Given the description of an element on the screen output the (x, y) to click on. 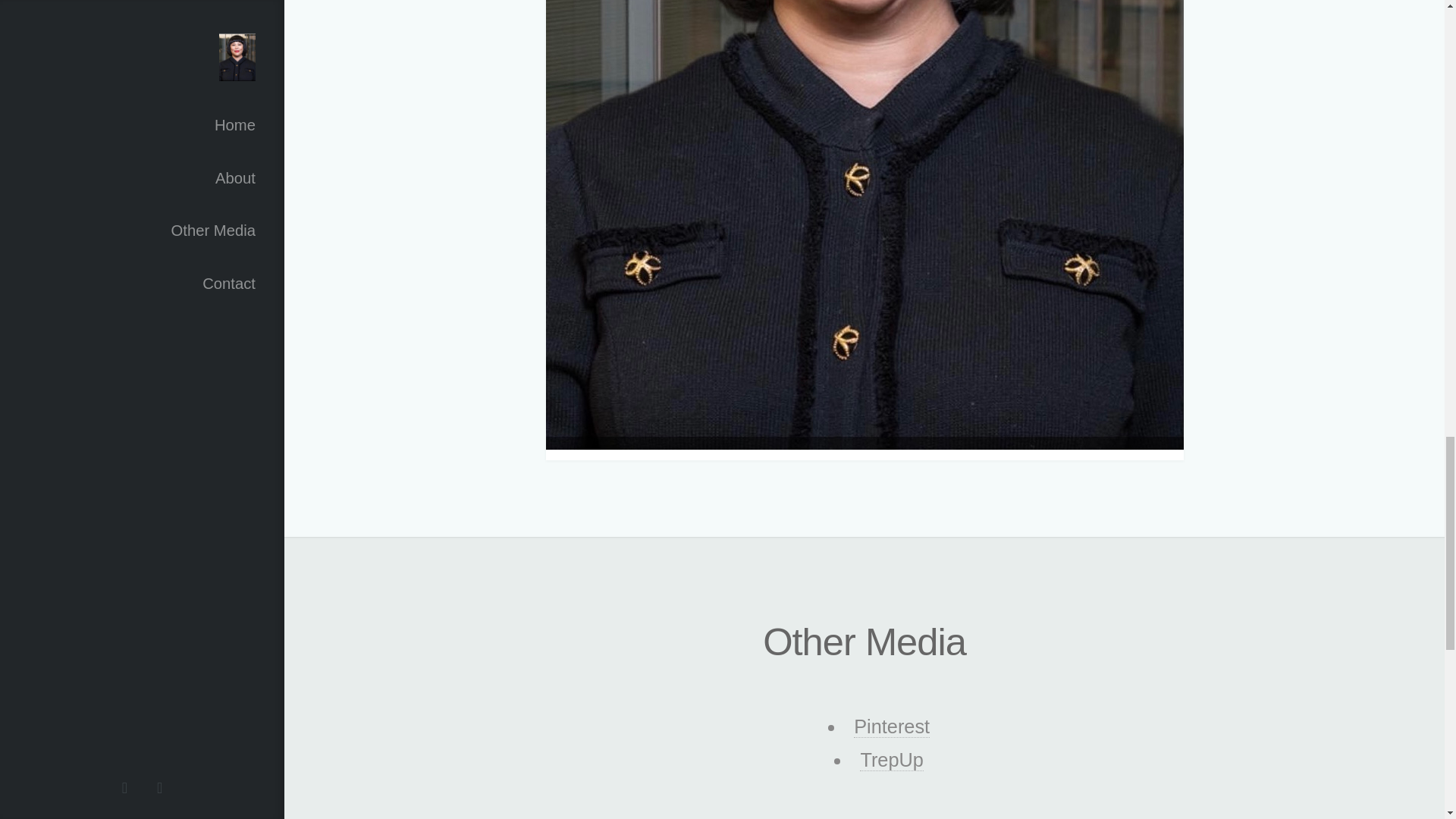
TrepUp (891, 760)
TrepUp (891, 760)
Pinterest (891, 726)
Pinterest (891, 726)
